Given the description of an element on the screen output the (x, y) to click on. 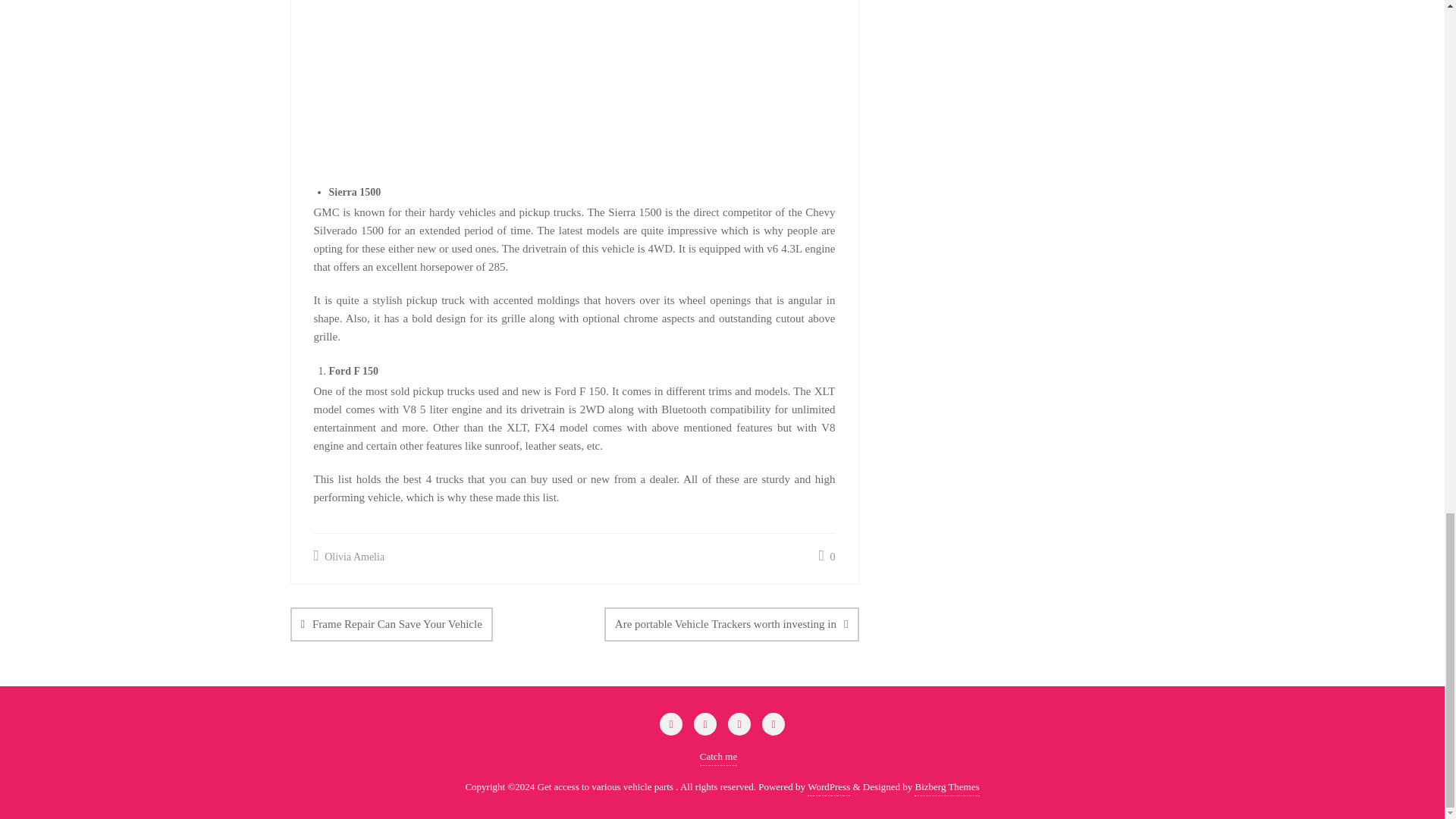
Are portable Vehicle Trackers worth investing in (731, 624)
Catch me (718, 756)
Olivia Amelia (349, 556)
WordPress (829, 787)
Bizberg Themes (946, 787)
Frame Repair Can Save Your Vehicle (390, 624)
